Given the description of an element on the screen output the (x, y) to click on. 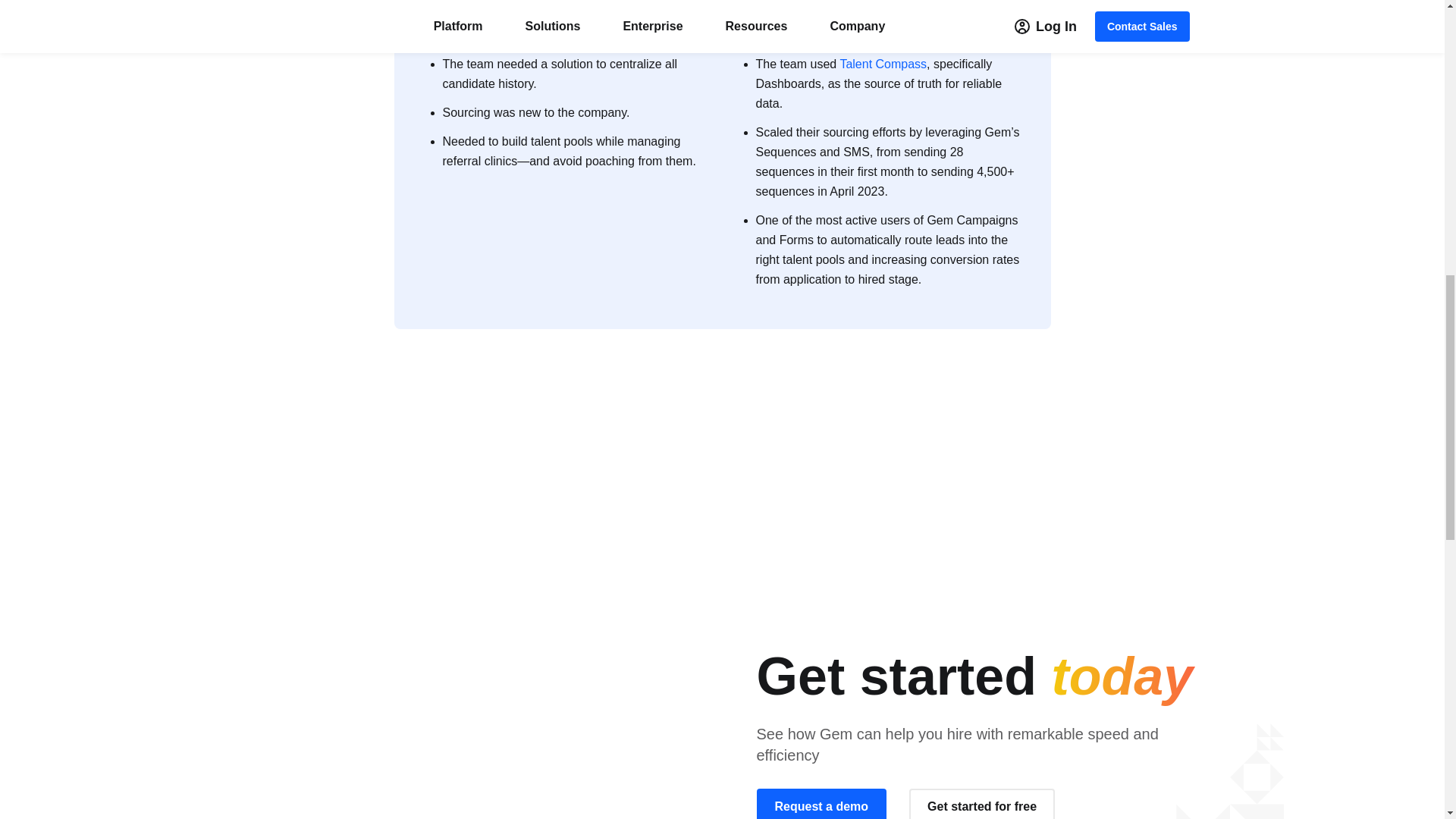
Talent Compass (883, 63)
Get started for free (981, 803)
Request a demo (821, 803)
